Given the description of an element on the screen output the (x, y) to click on. 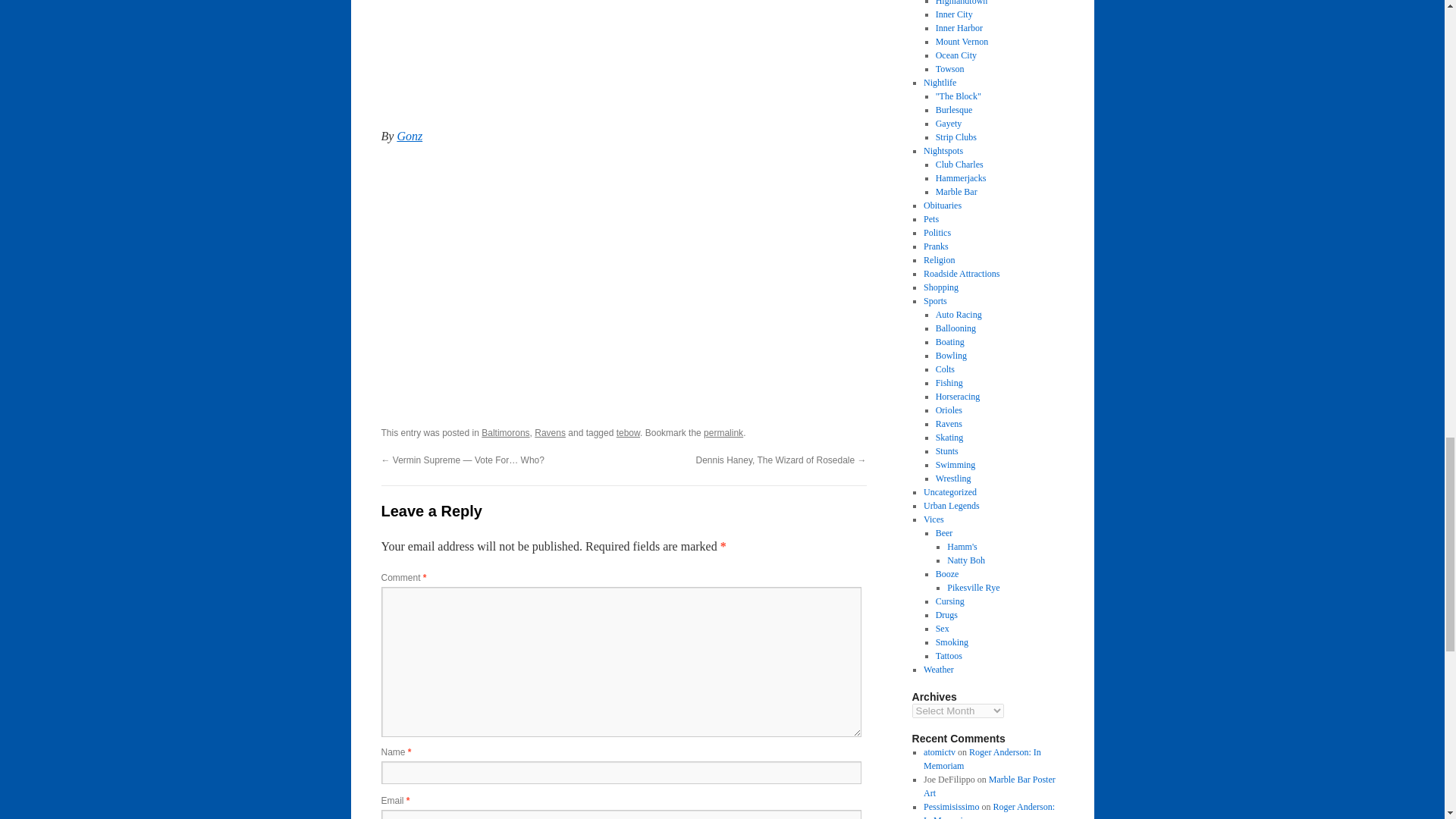
tebow (627, 432)
Baltimorons (505, 432)
Gonz (409, 135)
Ravens (550, 432)
permalink (722, 432)
Permalink to Kneel Before Zod Redux (722, 432)
